Given the description of an element on the screen output the (x, y) to click on. 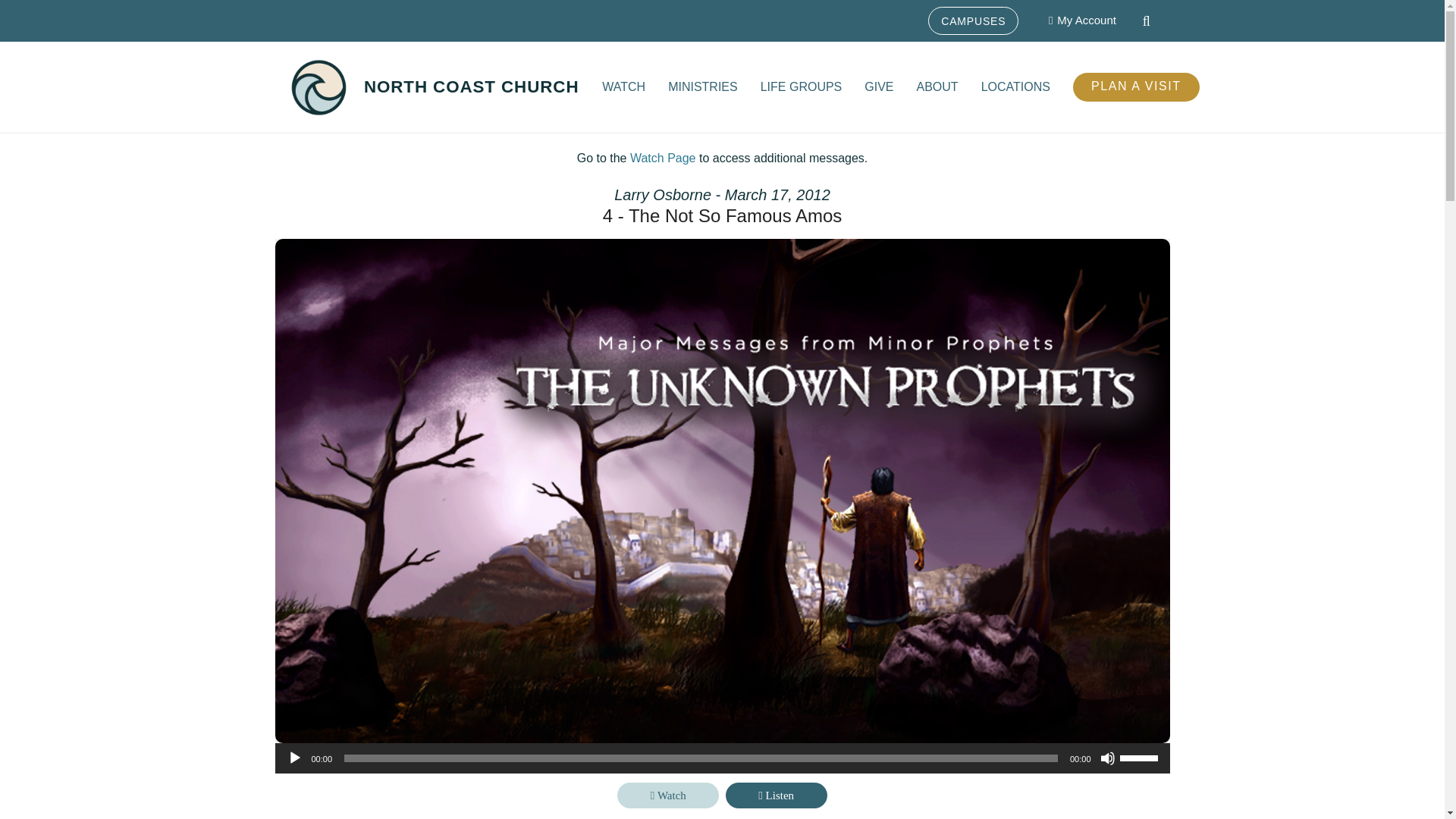
LIFE GROUPS (801, 86)
LOCATIONS (1015, 86)
CAMPUSES (972, 20)
Play (293, 758)
GIVE (878, 86)
NORTH COAST CHURCH (471, 86)
Mute (1107, 758)
WATCH (623, 86)
ABOUT (937, 86)
My Account (1082, 19)
MINISTRIES (702, 86)
PLAN A VISIT (1136, 86)
